Given the description of an element on the screen output the (x, y) to click on. 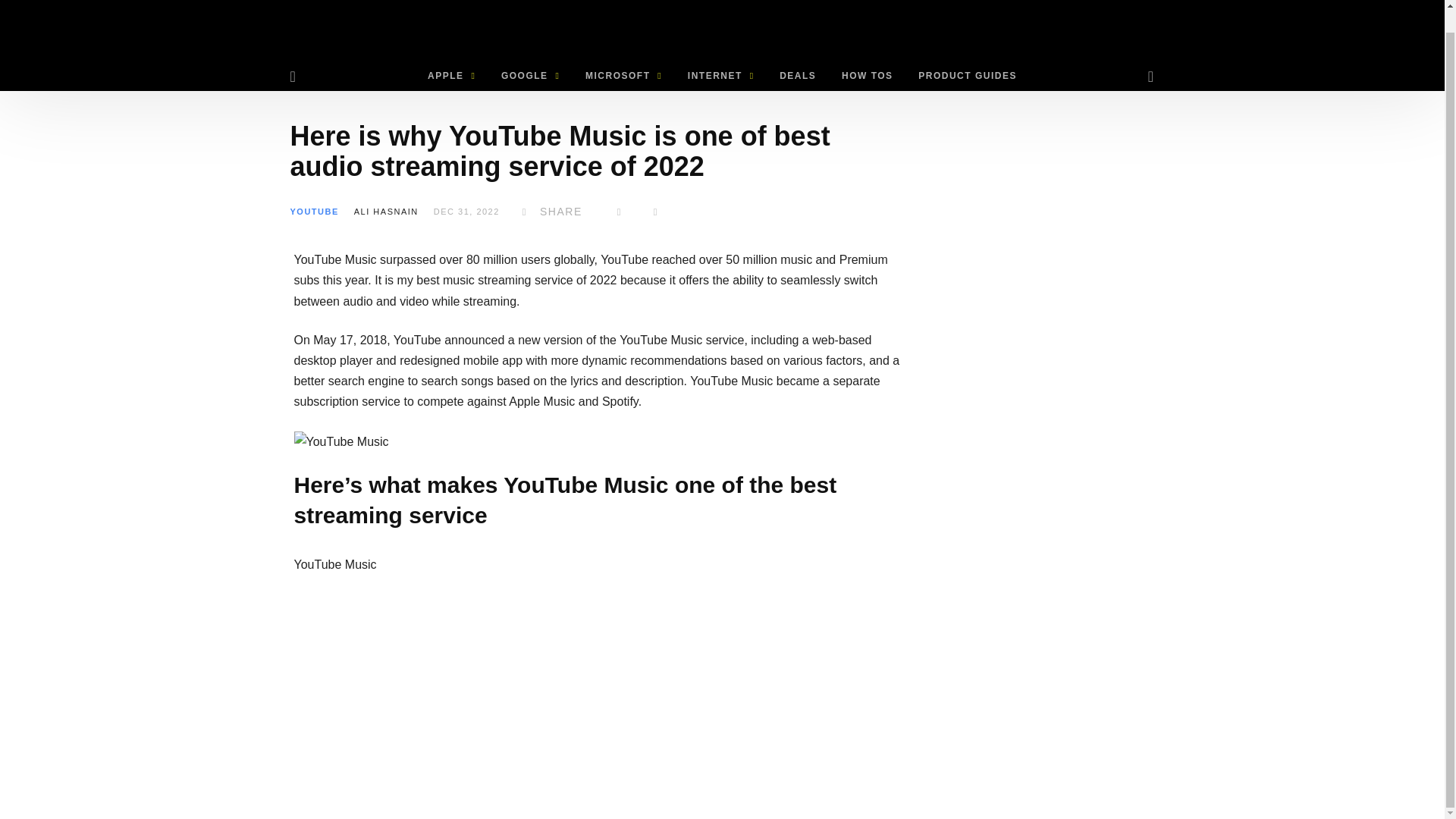
Share on Twitter (619, 211)
YOUTUBE (313, 211)
INTERNET (721, 75)
View all posts in YouTube (313, 211)
Posts by Ali Hasnain (386, 211)
ALI HASNAIN (386, 211)
GOOGLE (529, 75)
MICROSOFT (622, 75)
PRODUCT GUIDES (967, 75)
APPLE (451, 75)
More (655, 211)
Share on Facebook (548, 211)
HOW TOS (866, 75)
DEALS (797, 75)
SHARE (548, 211)
